Given the description of an element on the screen output the (x, y) to click on. 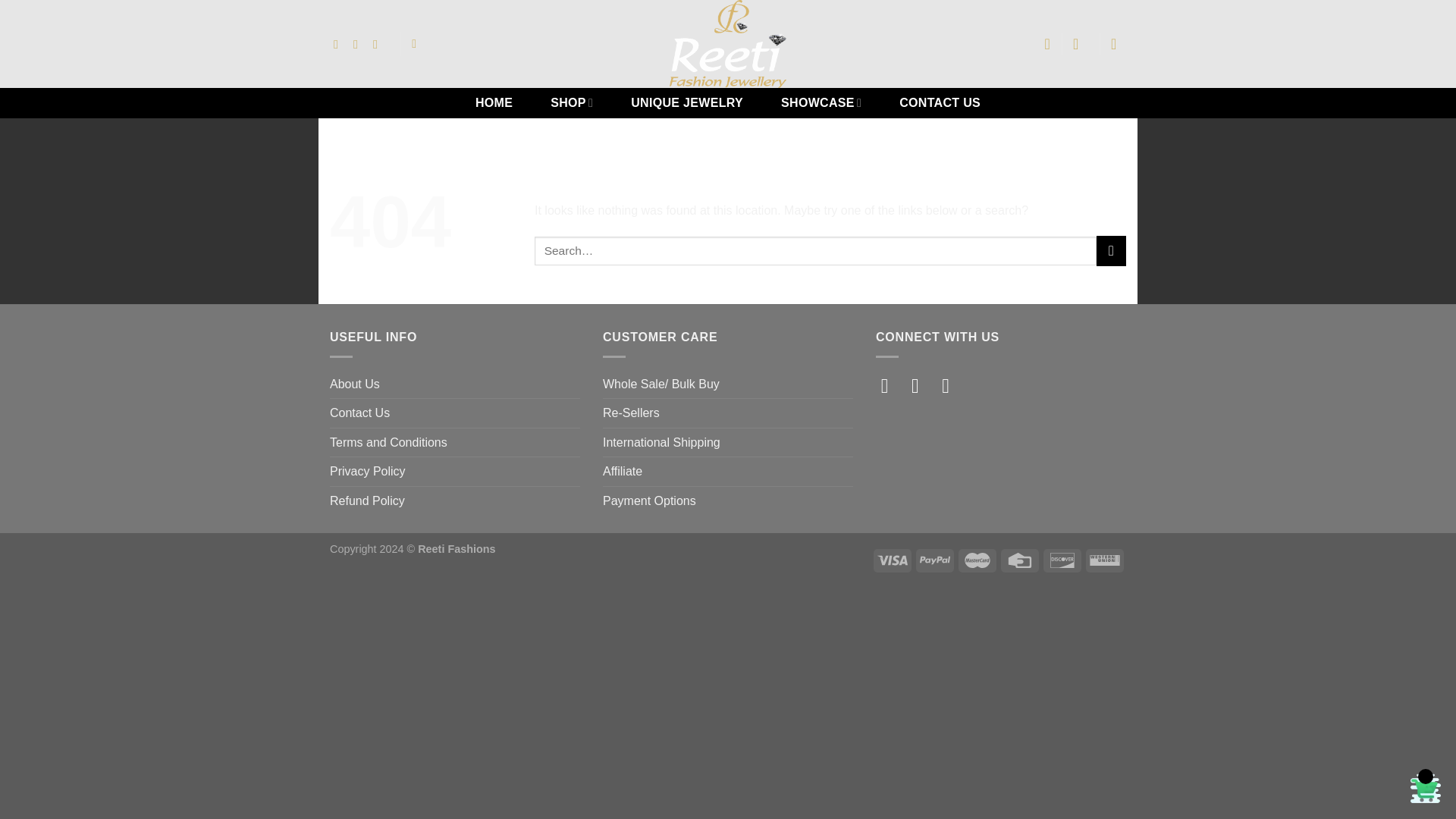
SHOWCASE (820, 102)
UNIQUE JEWELRY (686, 102)
Follow on Facebook (890, 385)
HOME (493, 102)
Follow on Twitter (952, 385)
Follow on Instagram (921, 385)
SHOP (571, 102)
